Given the description of an element on the screen output the (x, y) to click on. 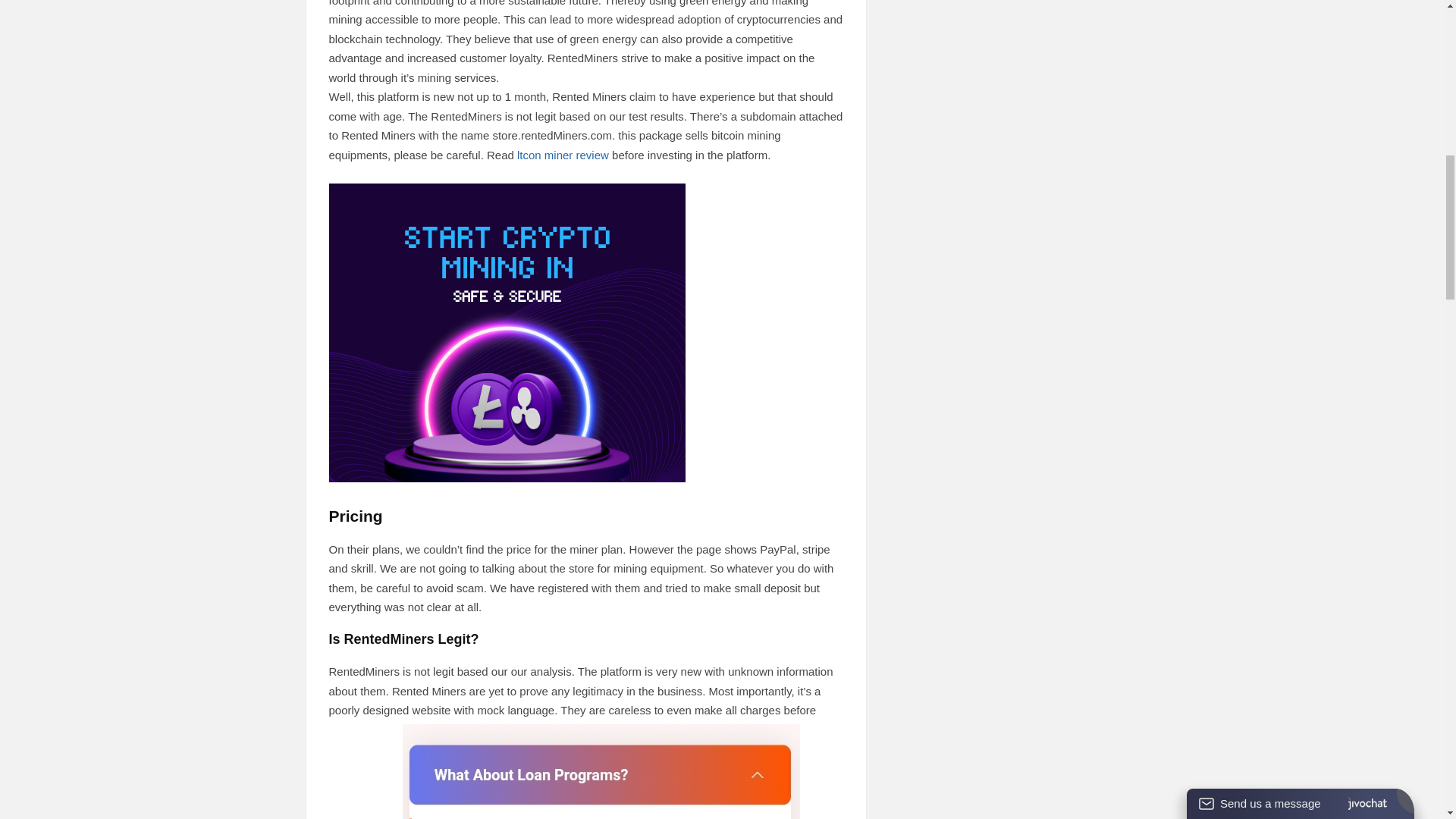
ltcon miner review (562, 154)
